Given the description of an element on the screen output the (x, y) to click on. 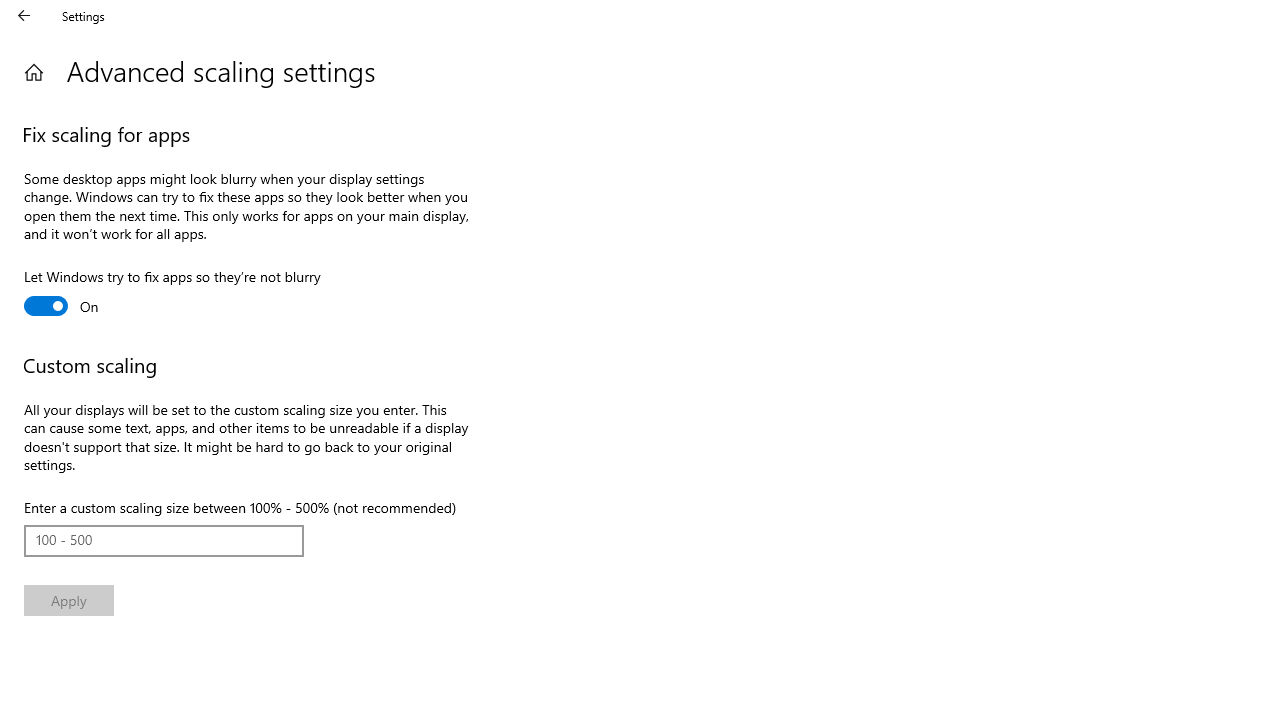
Home (33, 71)
Apply (68, 600)
Back (24, 15)
